Given the description of an element on the screen output the (x, y) to click on. 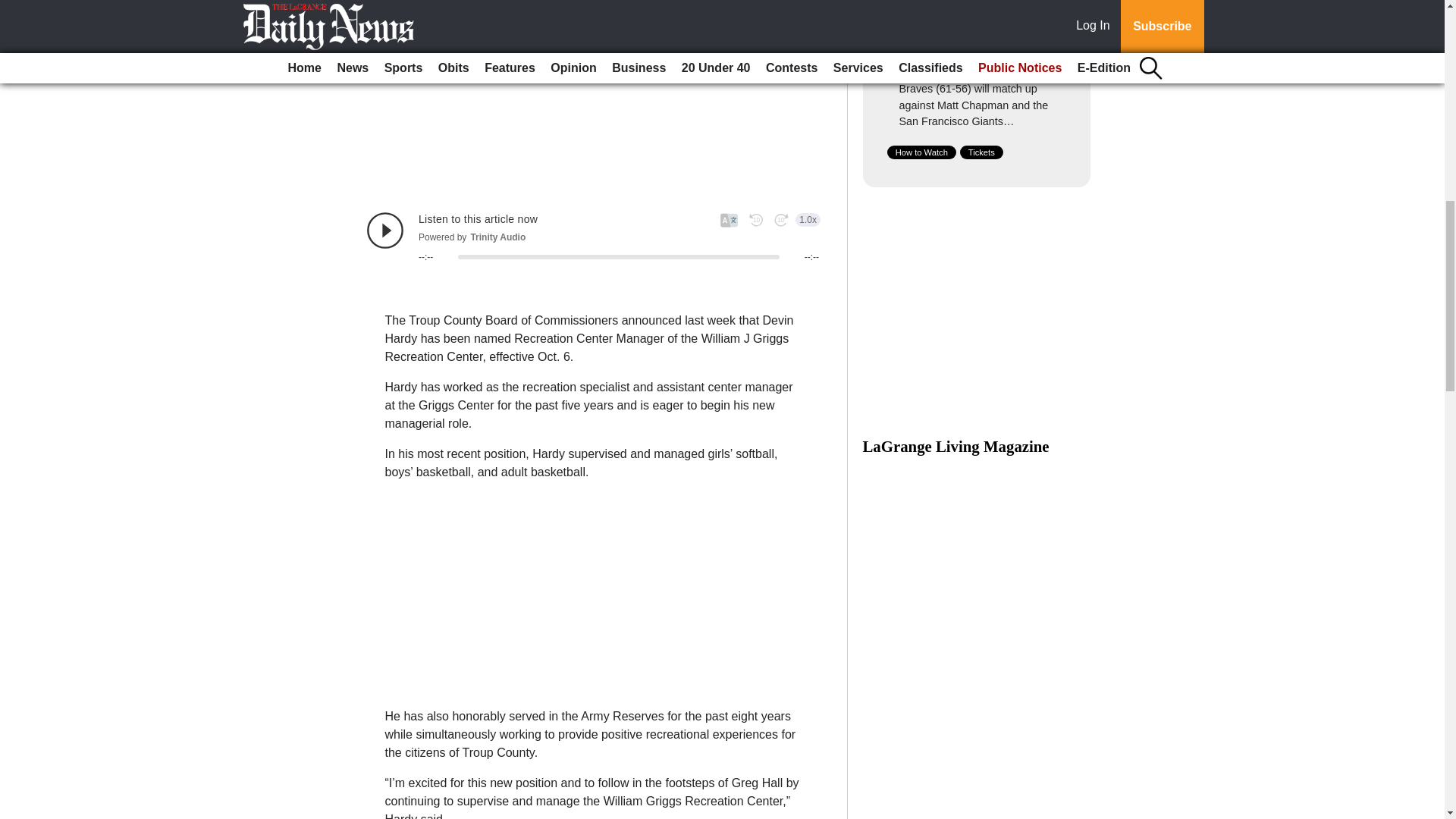
How to Watch (921, 151)
Trinity Audio Player (592, 237)
Tickets (981, 151)
Braves vs. Giants: Betting Preview for August 12 (966, 44)
